Given the description of an element on the screen output the (x, y) to click on. 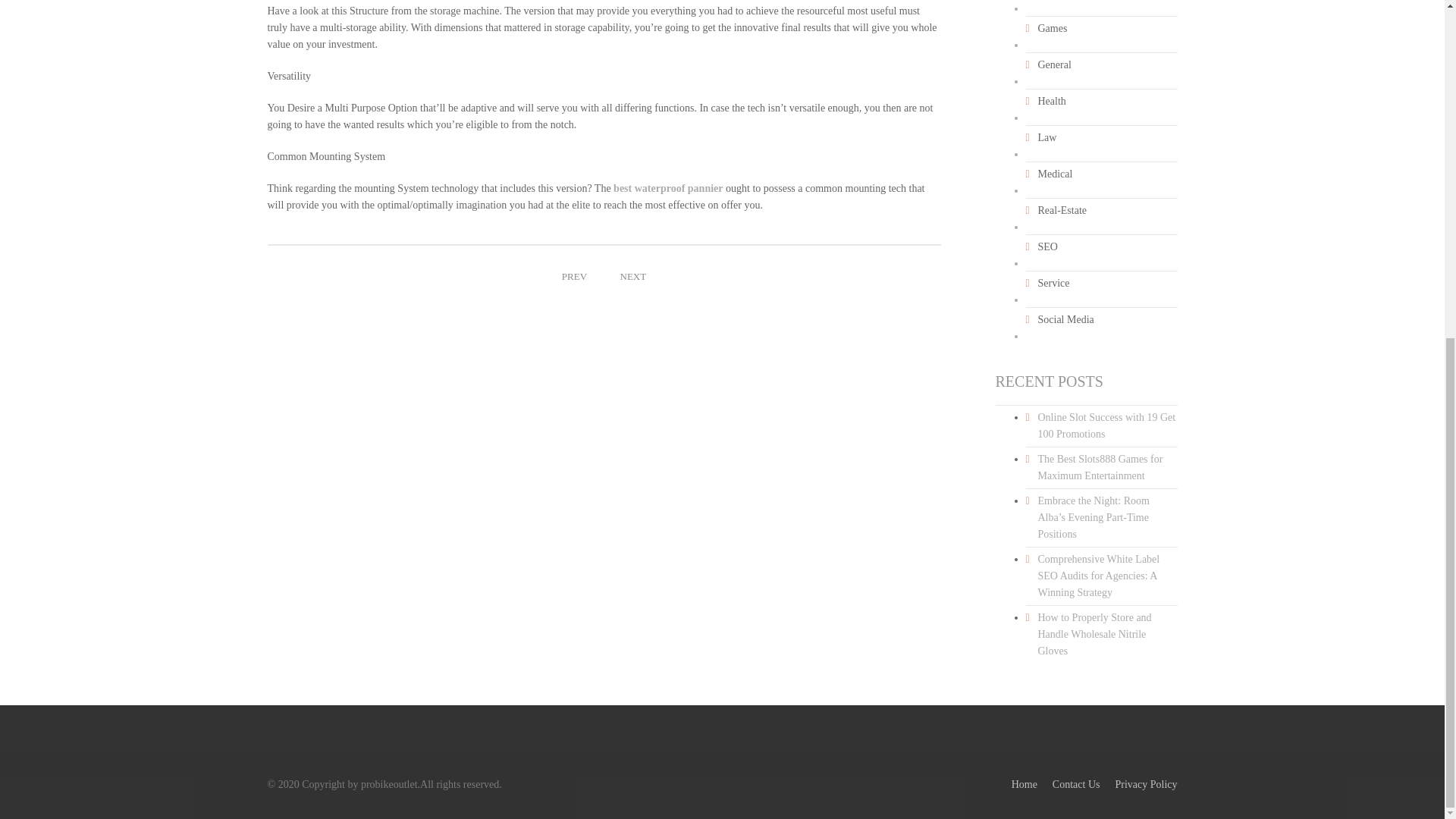
The Best Slots888 Games for Maximum Entertainment (1098, 467)
How to Properly Store and Handle Wholesale Nitrile Gloves (1093, 633)
Real-Estate (1061, 210)
Health (1050, 101)
Home (1023, 784)
Social Media (1064, 320)
Service (1052, 283)
best waterproof pannier (667, 188)
Medical (1053, 174)
